Given the description of an element on the screen output the (x, y) to click on. 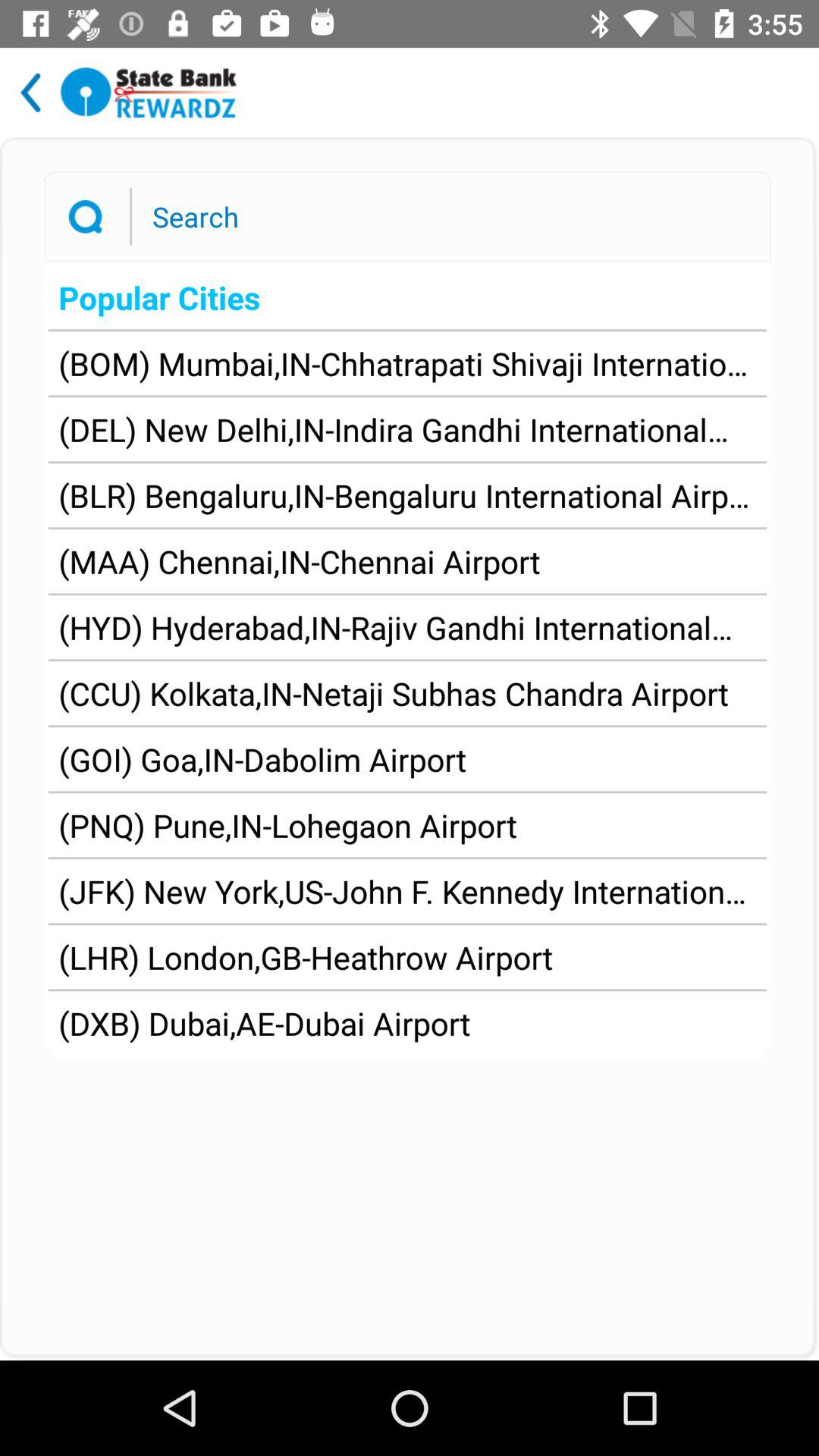
select icon above bom mumbai in app (407, 297)
